Given the description of an element on the screen output the (x, y) to click on. 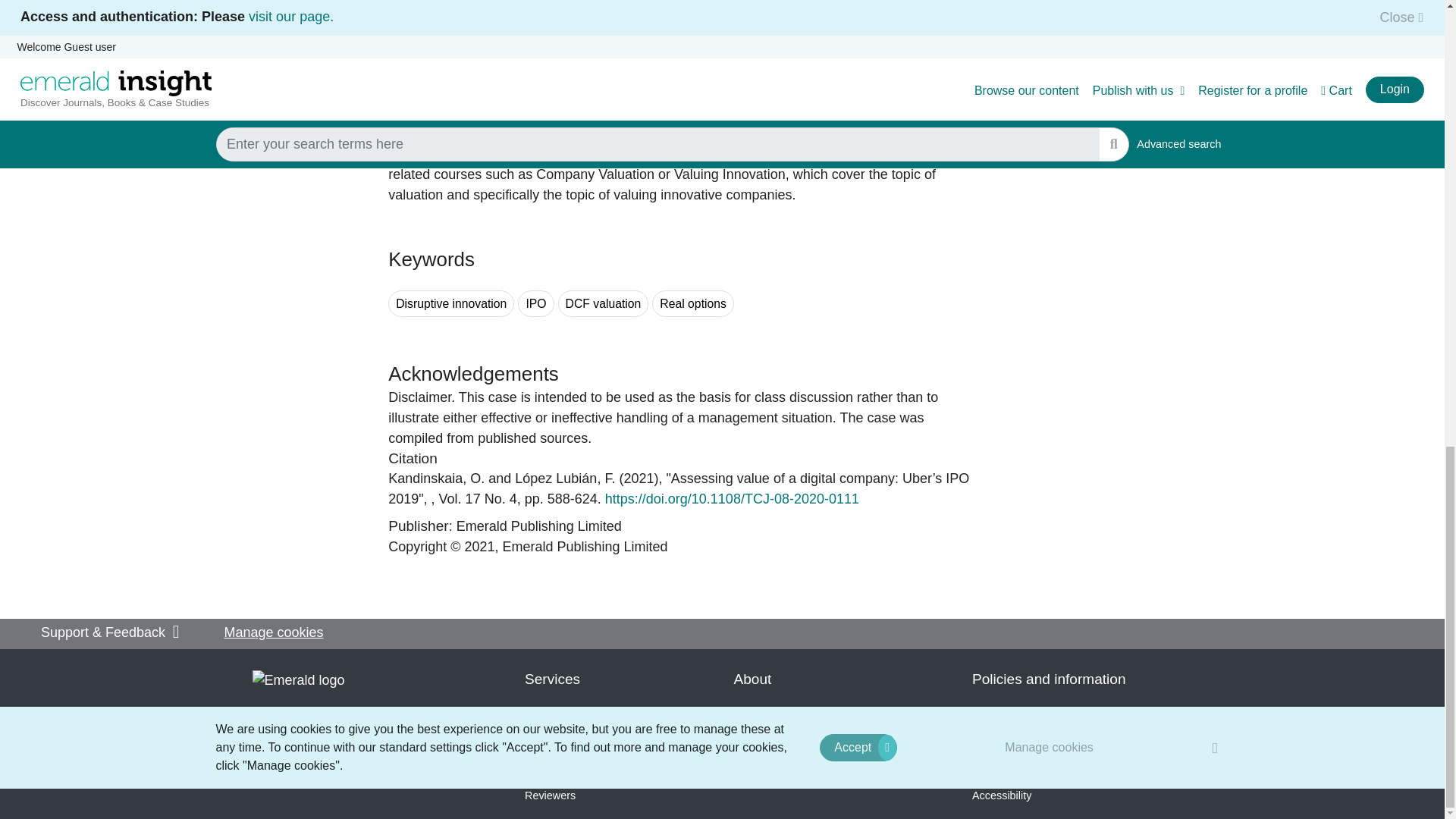
Search for keyword IPO (535, 303)
Search for keyword Disruptive innovation (450, 303)
Search for keyword DCF valuation (603, 303)
Search for keyword Real options (692, 303)
Olga Kandinskaia (436, 478)
